Given the description of an element on the screen output the (x, y) to click on. 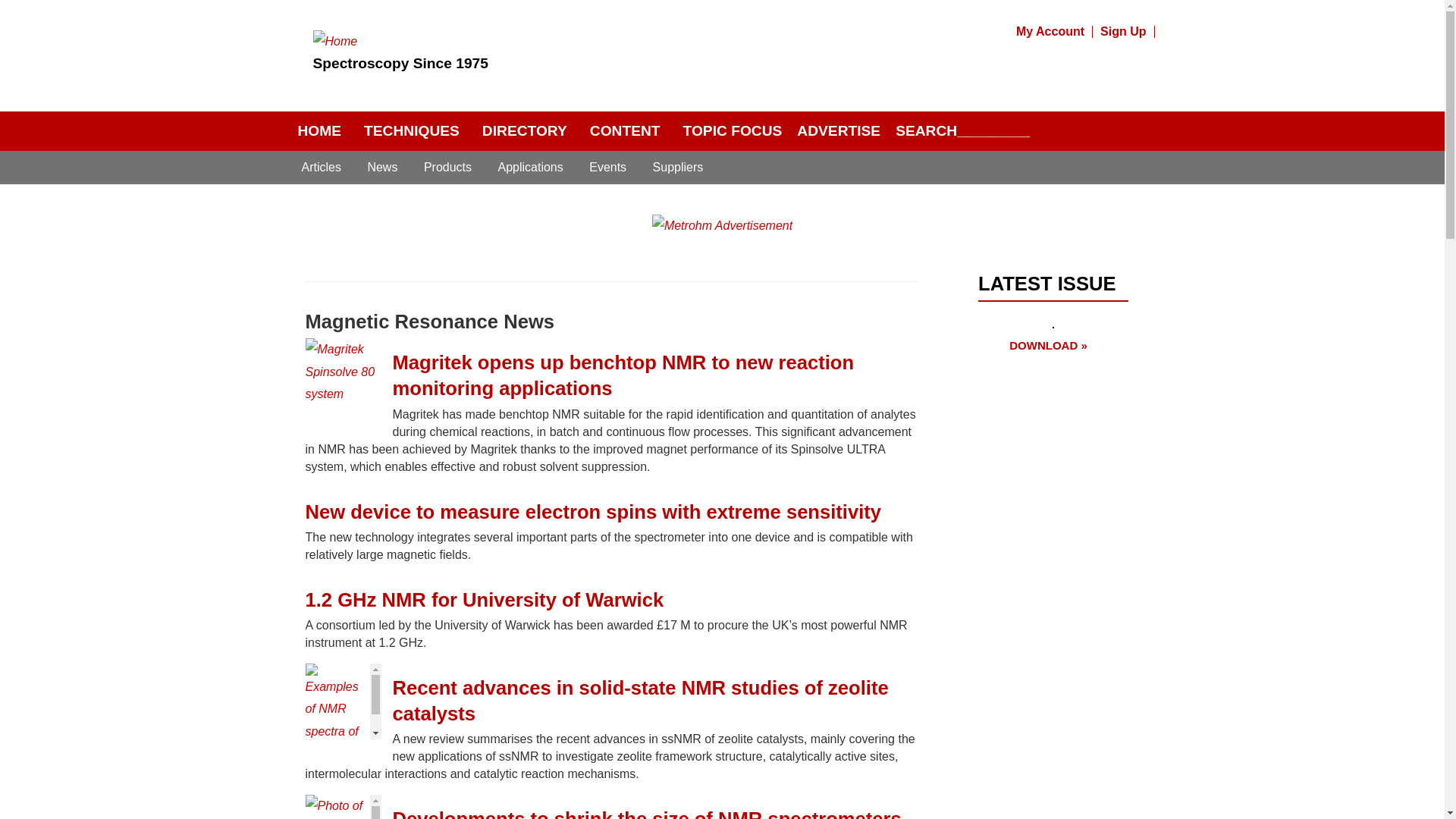
Focussed topics (732, 131)
Sign Up (1123, 31)
DIRECTORY (524, 131)
My Account (1051, 31)
TOPIC FOCUS (732, 131)
ADVERTISE (838, 131)
Magritek Spinsolve 80 system (342, 376)
Home (334, 41)
HOME (319, 131)
